Given the description of an element on the screen output the (x, y) to click on. 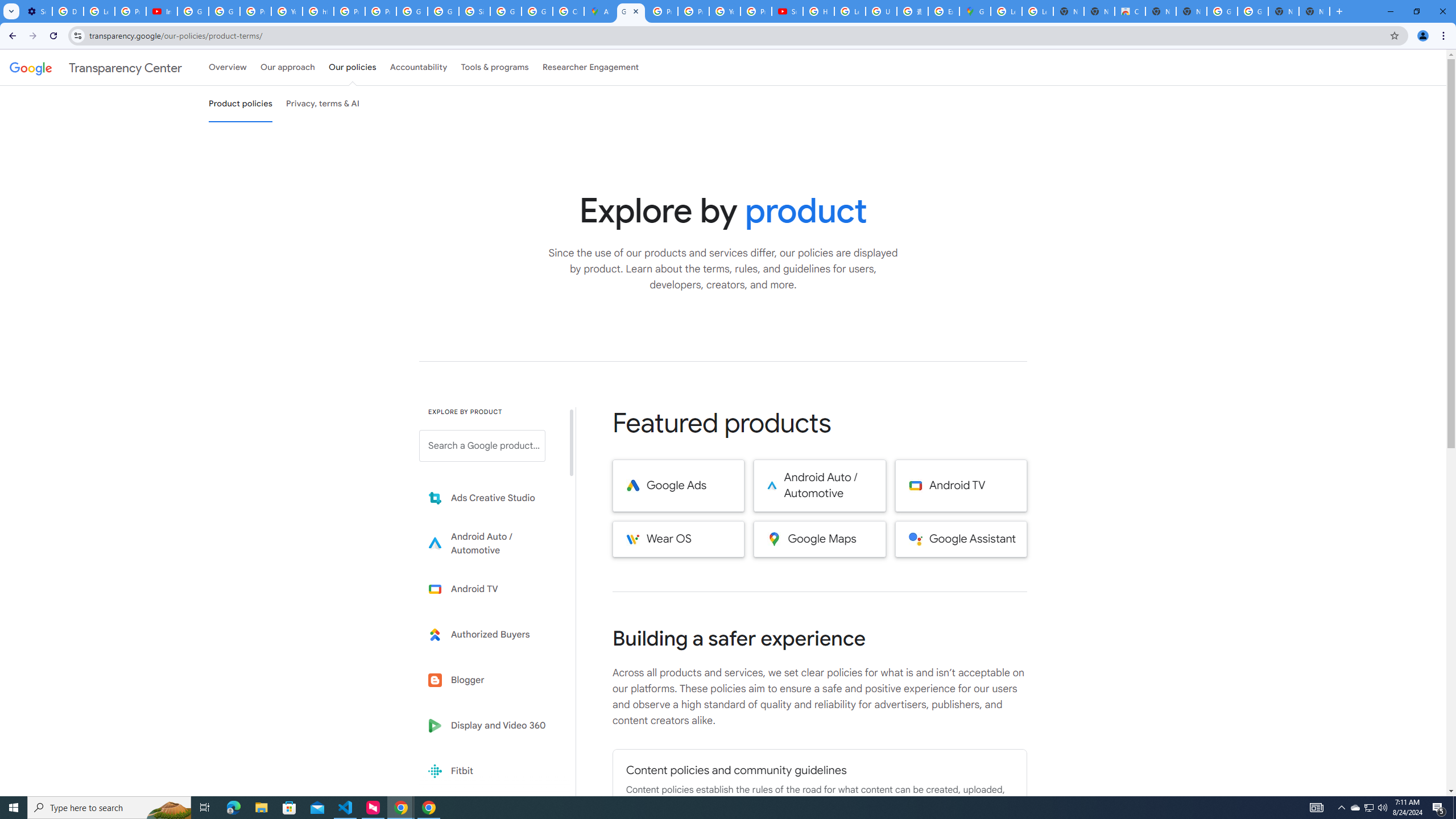
Learn more about Ads Creative Studio (490, 497)
Wear OS (678, 538)
Display and Video 360 (490, 725)
Google Maps (974, 11)
Google Maps (820, 538)
Learn more about Android Auto (490, 543)
Privacy Help Center - Policies Help (662, 11)
How Chrome protects your passwords - Google Chrome Help (818, 11)
Product policies (239, 103)
